Given the description of an element on the screen output the (x, y) to click on. 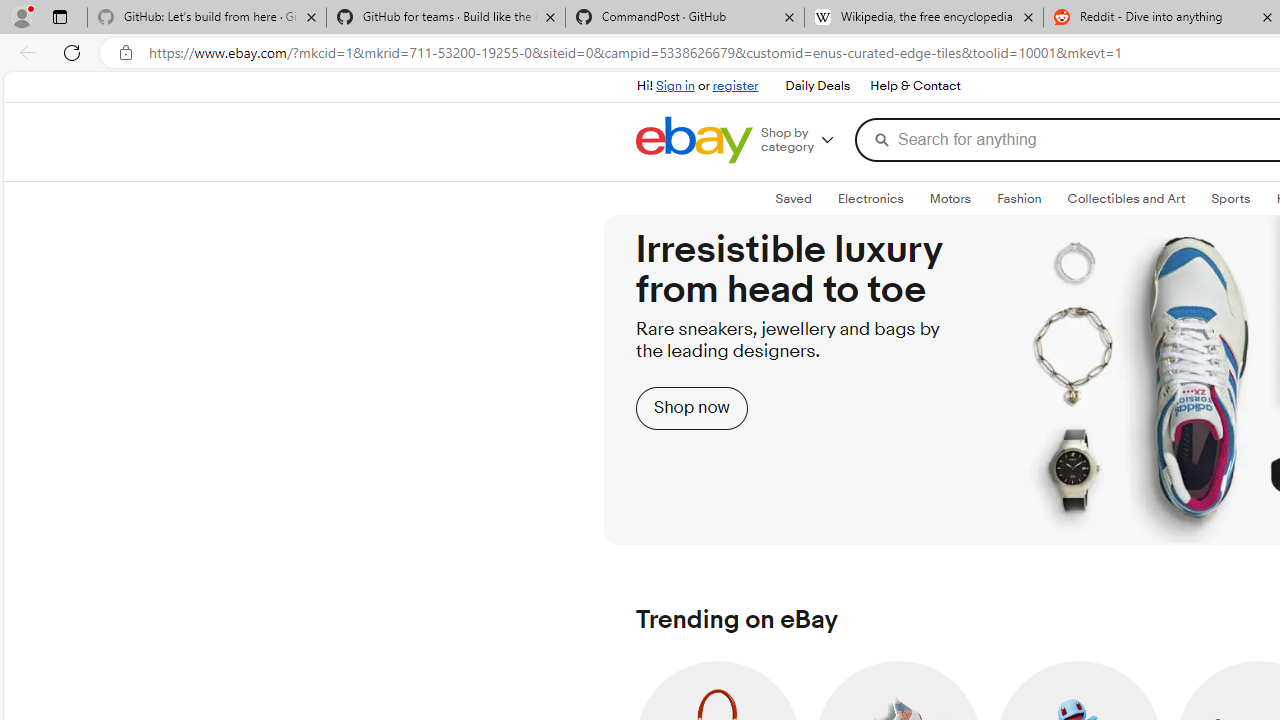
Saved (793, 199)
Electronics (870, 198)
Motors (950, 198)
Help & Contact (914, 85)
Help & Contact (915, 86)
Shop by category (805, 140)
Collectibles and Art (1126, 198)
Collectibles and ArtExpand: Collectibles and Art (1126, 199)
Fashion (1019, 198)
